Given the description of an element on the screen output the (x, y) to click on. 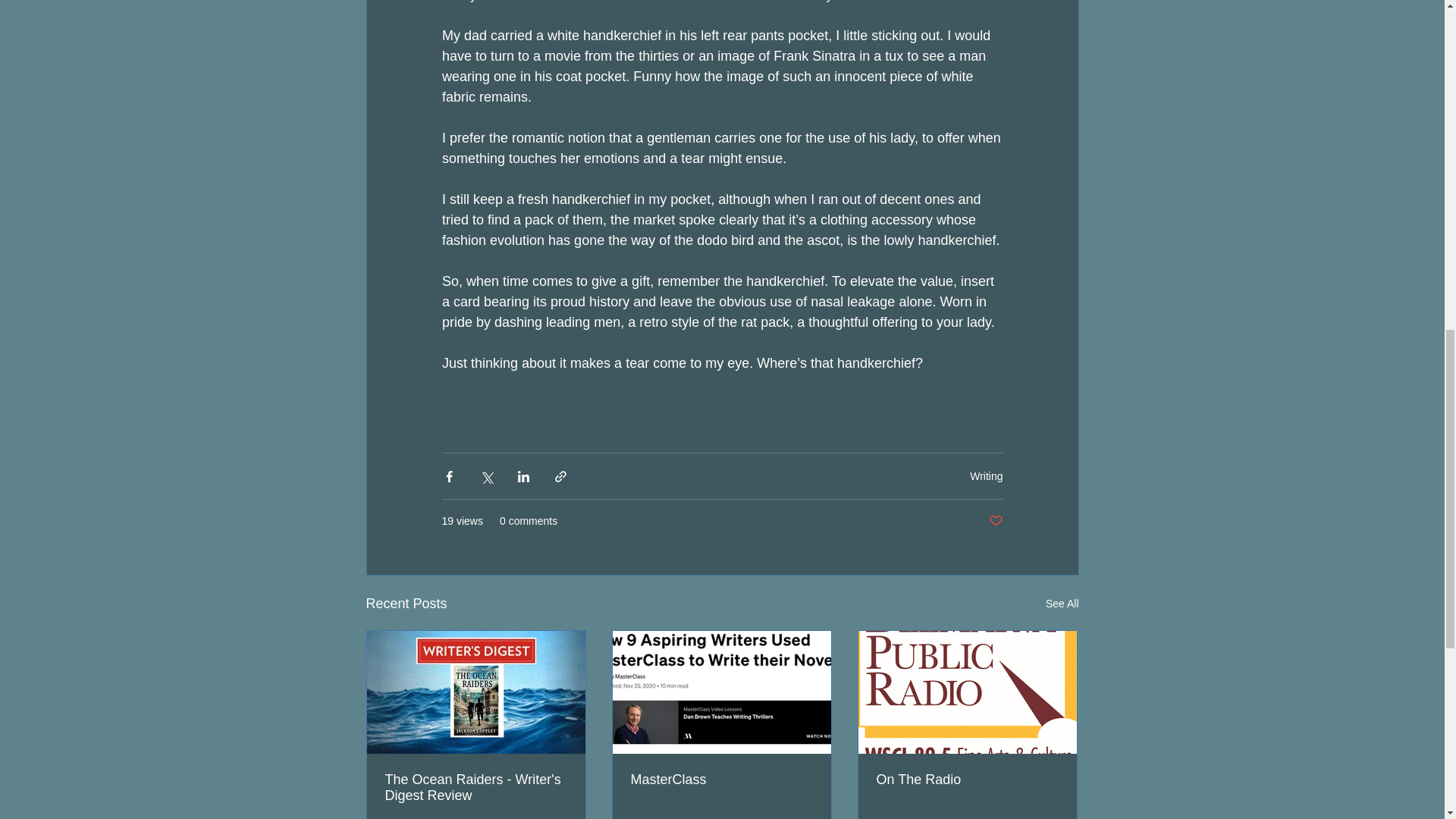
See All (1061, 603)
On The Radio (967, 779)
Post not marked as liked (995, 521)
Writing (986, 476)
The Ocean Raiders - Writer's Digest Review (476, 787)
MasterClass (721, 779)
